Given the description of an element on the screen output the (x, y) to click on. 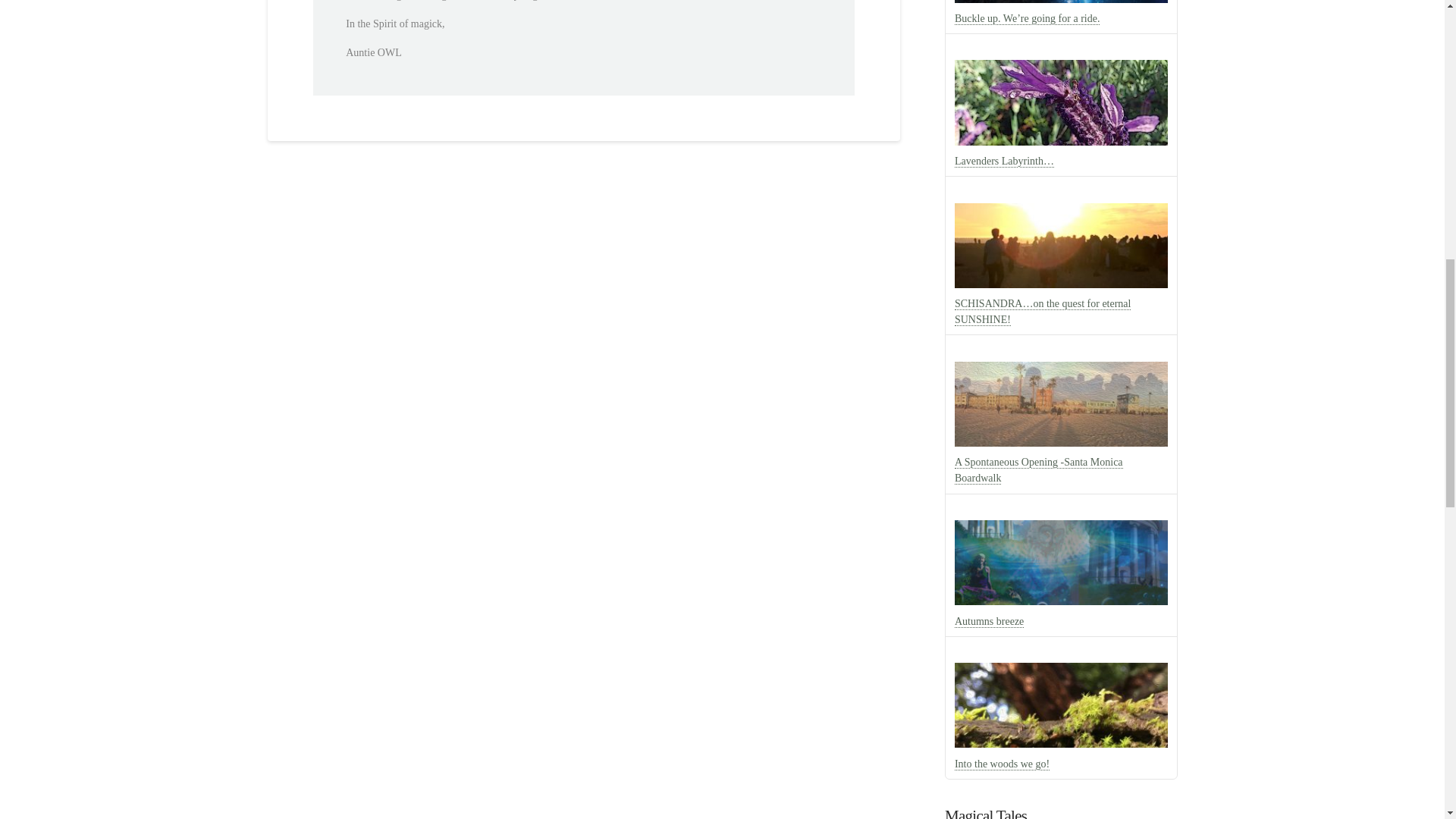
A Spontaneous Opening -Santa Monica Boardwalk (1038, 470)
